Given the description of an element on the screen output the (x, y) to click on. 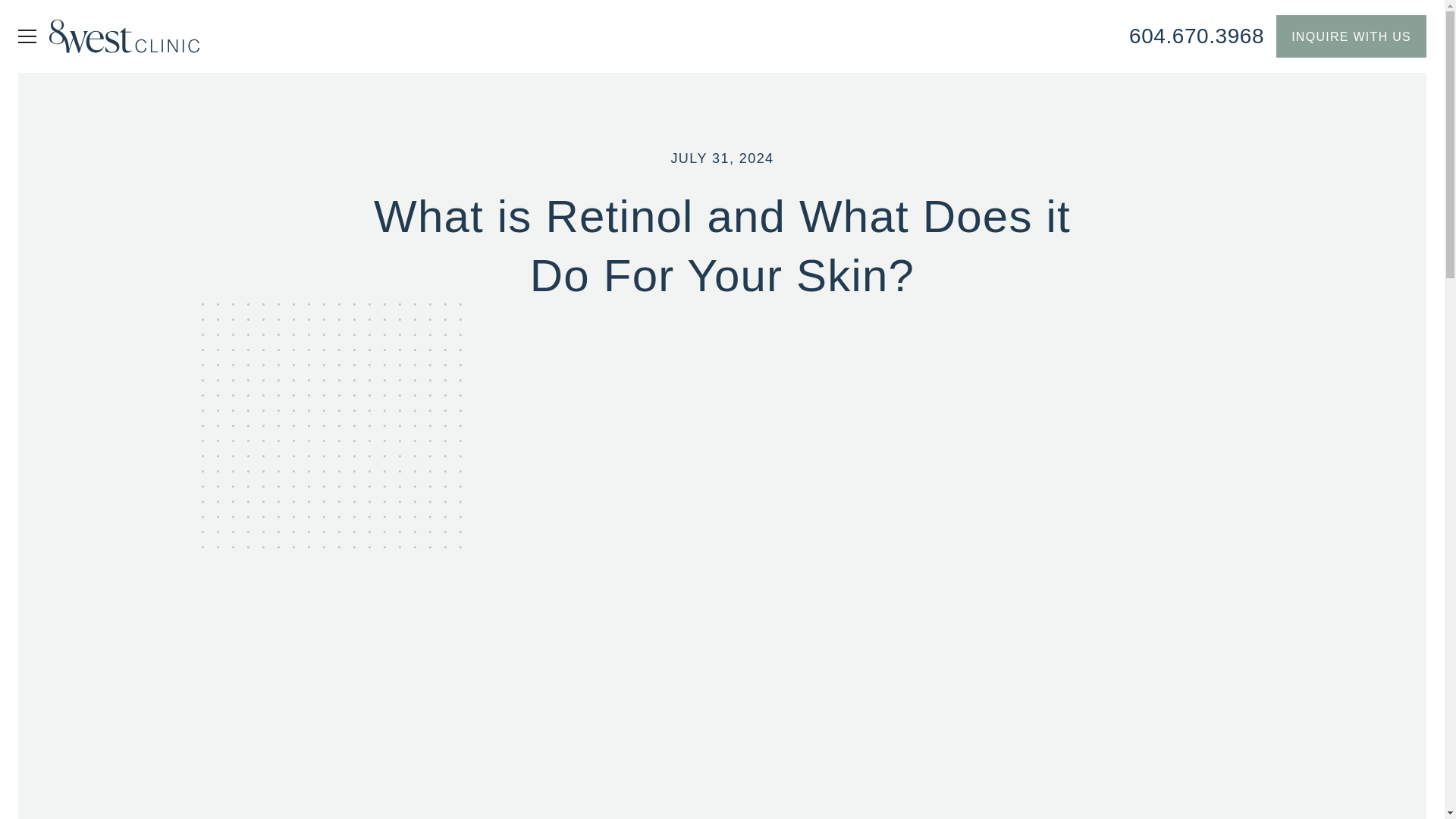
INQUIRE WITH US (1351, 36)
604.670.3968 (1196, 36)
